Given the description of an element on the screen output the (x, y) to click on. 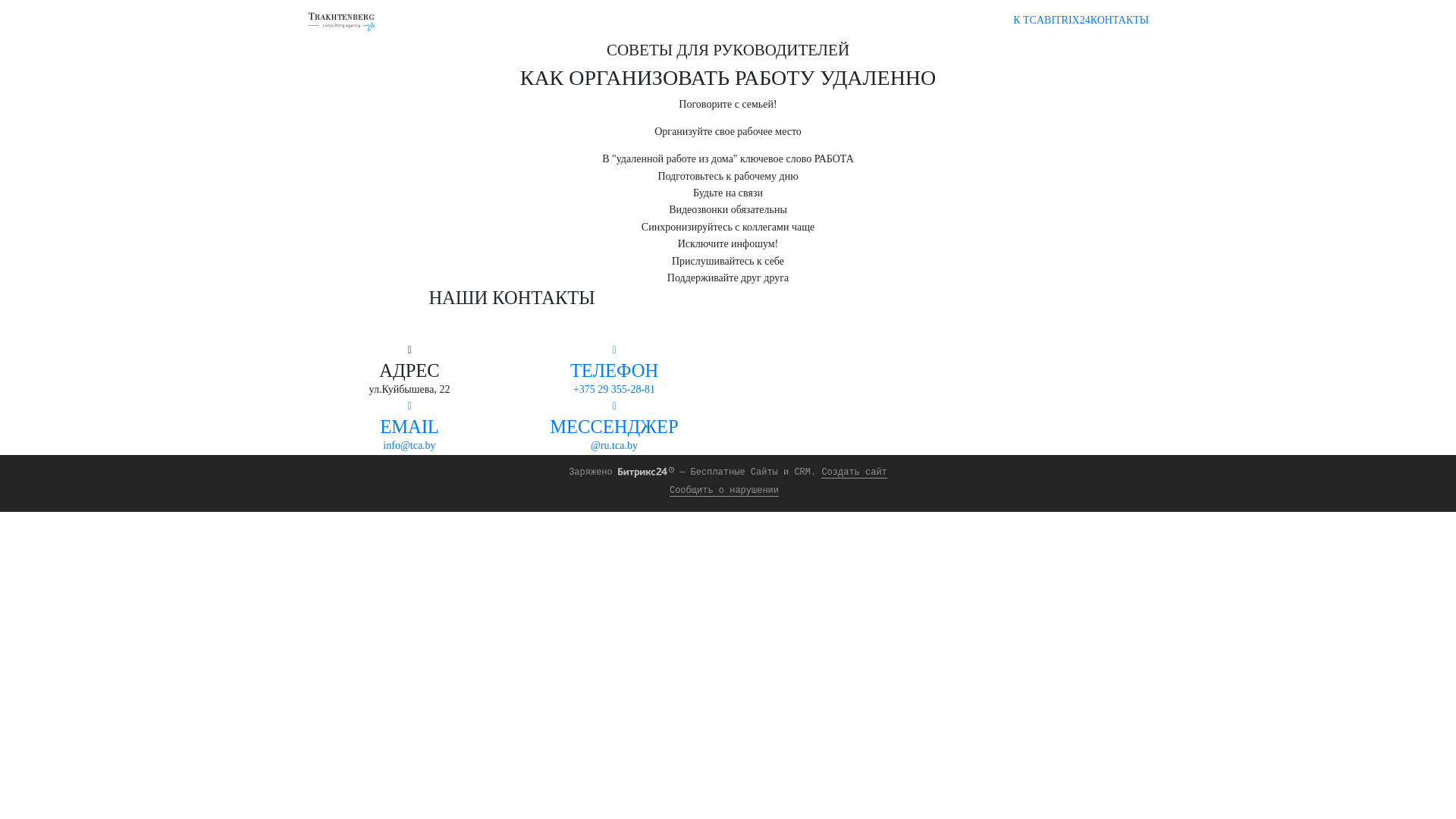
info@tca.by Element type: text (408, 445)
BITRIX24 Element type: text (1067, 20)
+375 29 355-28-81 Element type: text (614, 389)
EMAIL
info@tca.by Element type: text (409, 425)
